Given the description of an element on the screen output the (x, y) to click on. 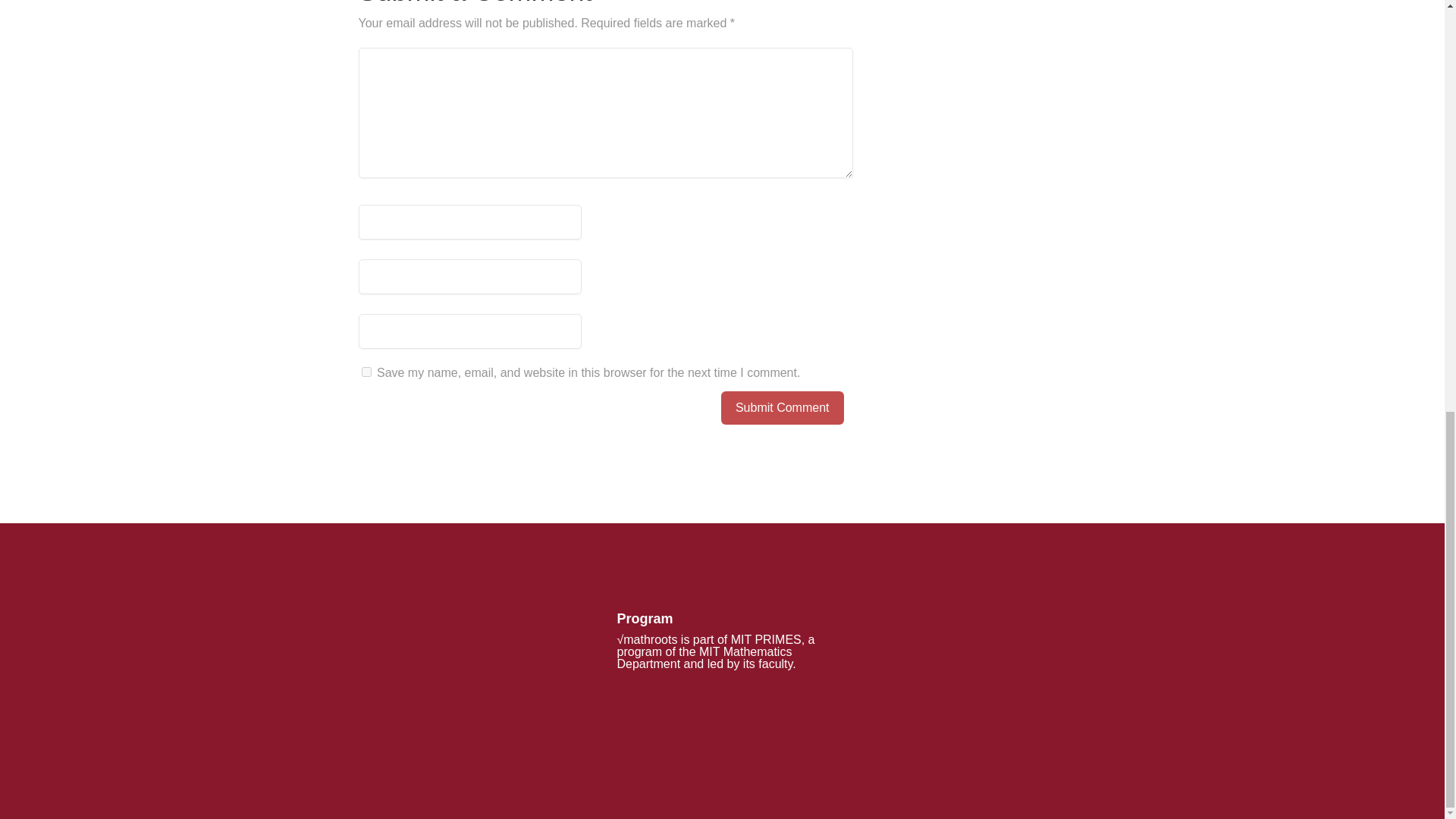
Submit Comment (782, 408)
MIT PRIMES (766, 639)
Submit Comment (782, 408)
yes (366, 371)
led by (723, 663)
MIT Mathematics Department (704, 657)
